Given the description of an element on the screen output the (x, y) to click on. 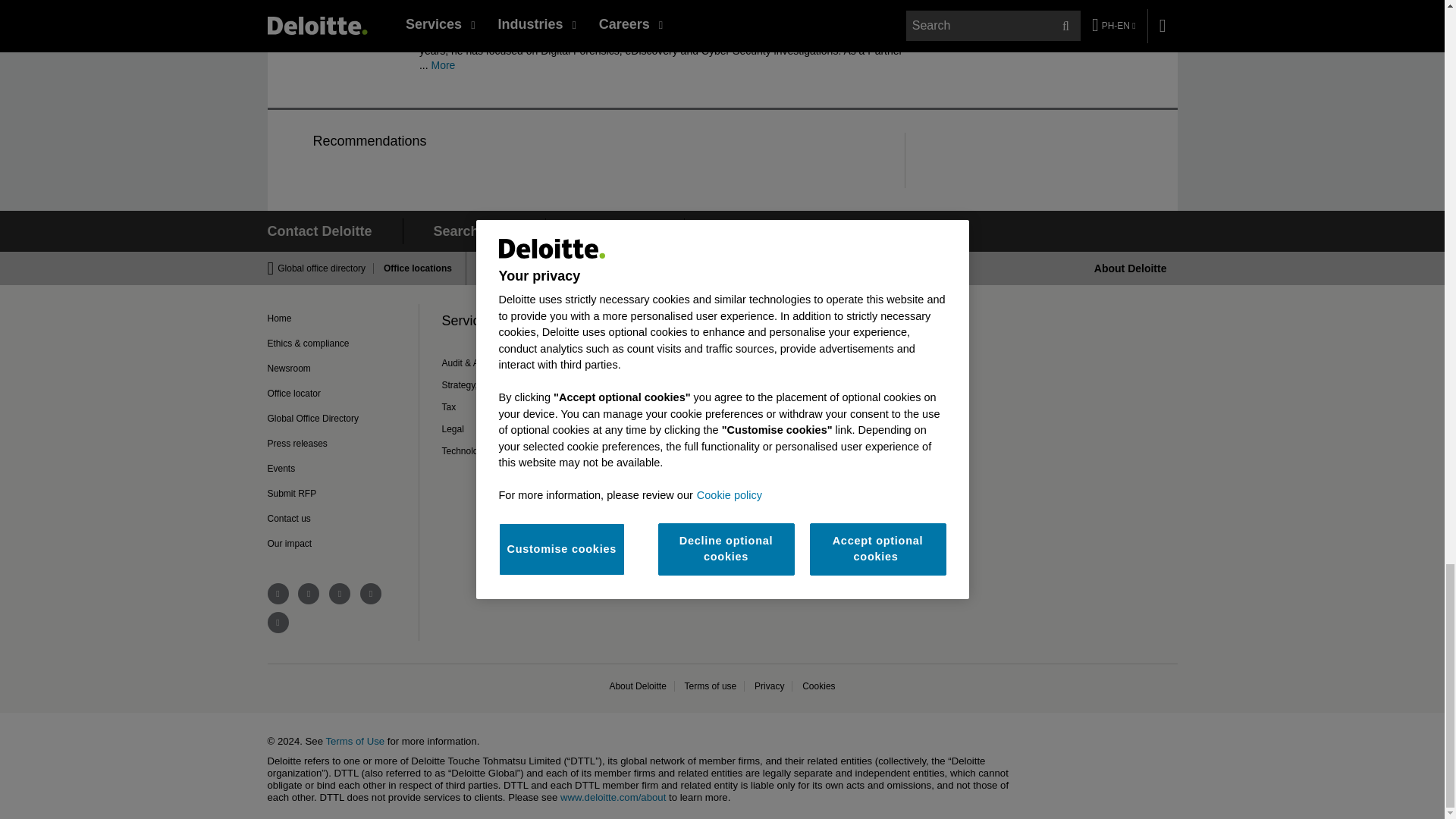
About Deloitte (1130, 268)
LinkedIn (430, 3)
twitter (370, 593)
instagram (339, 593)
facebook (277, 593)
Global office directory (326, 267)
linkedin (308, 593)
Office locations (413, 267)
Twitter (460, 3)
